Given the description of an element on the screen output the (x, y) to click on. 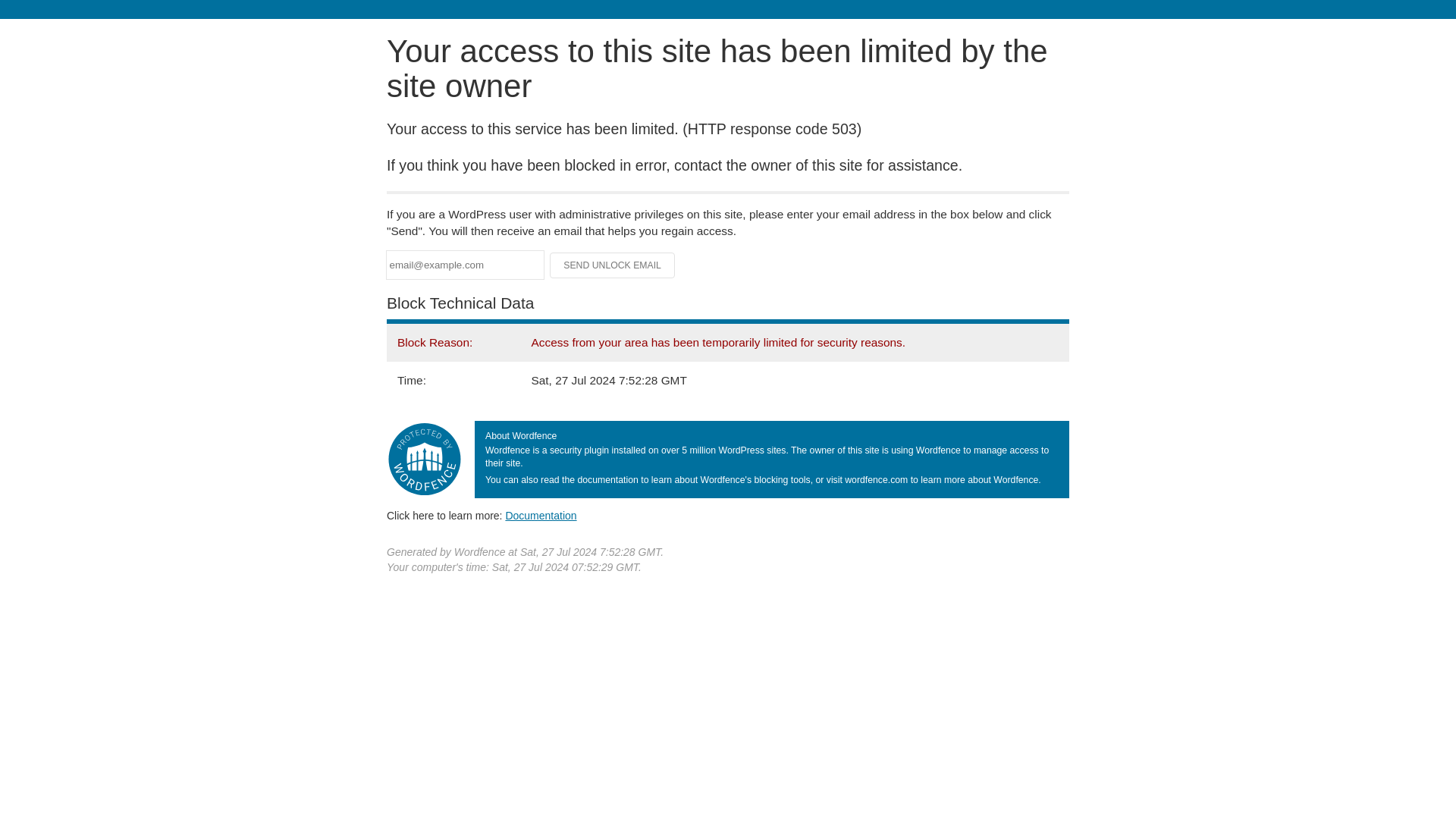
Send Unlock Email (612, 265)
Documentation (540, 515)
Send Unlock Email (612, 265)
